Given the description of an element on the screen output the (x, y) to click on. 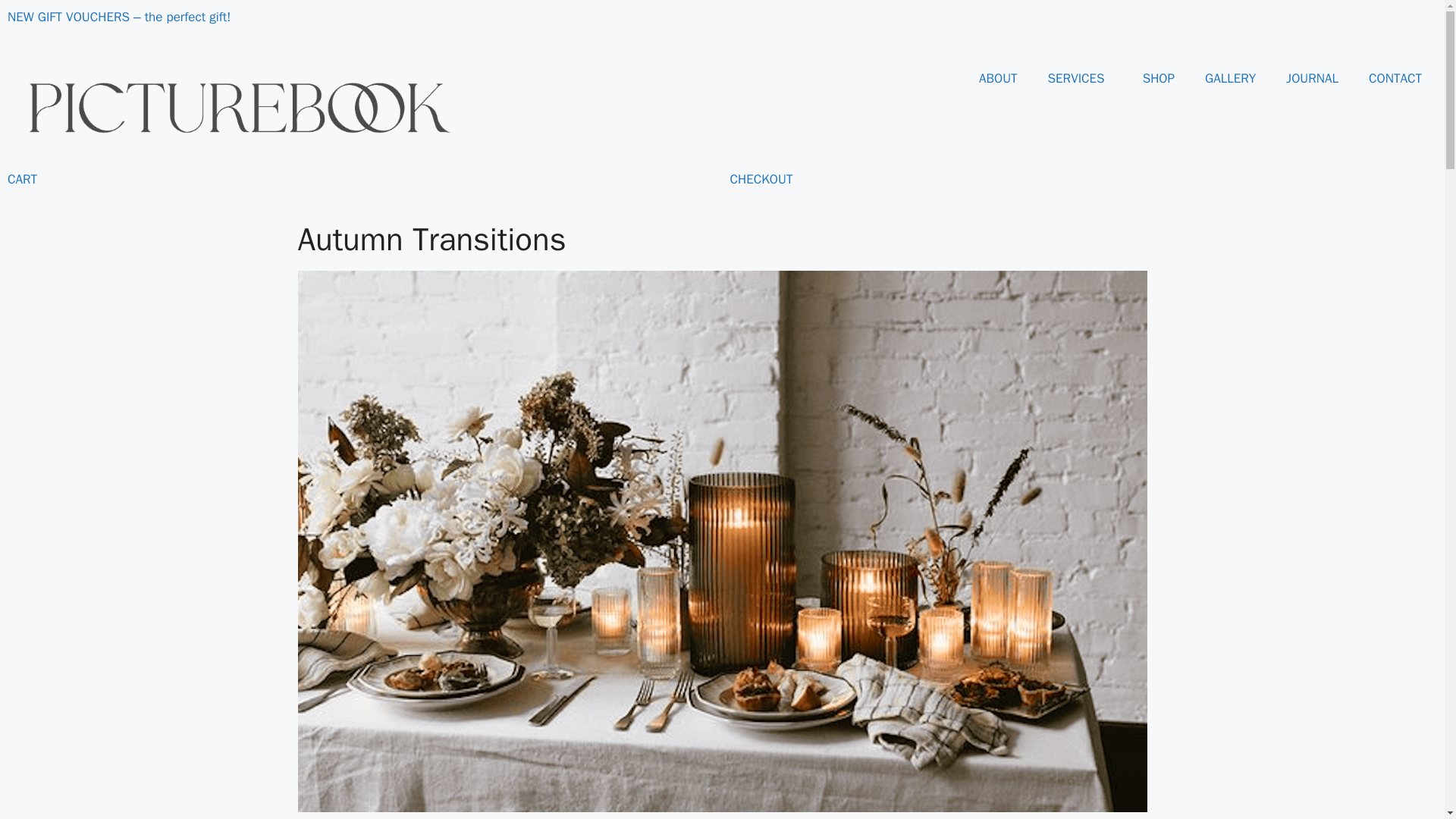
GALLERY (1230, 78)
CONTACT (1395, 78)
CART (22, 179)
ABOUT (997, 78)
SERVICES (1079, 78)
CHECKOUT (760, 179)
JOURNAL (1312, 78)
SHOP (1157, 78)
